Given the description of an element on the screen output the (x, y) to click on. 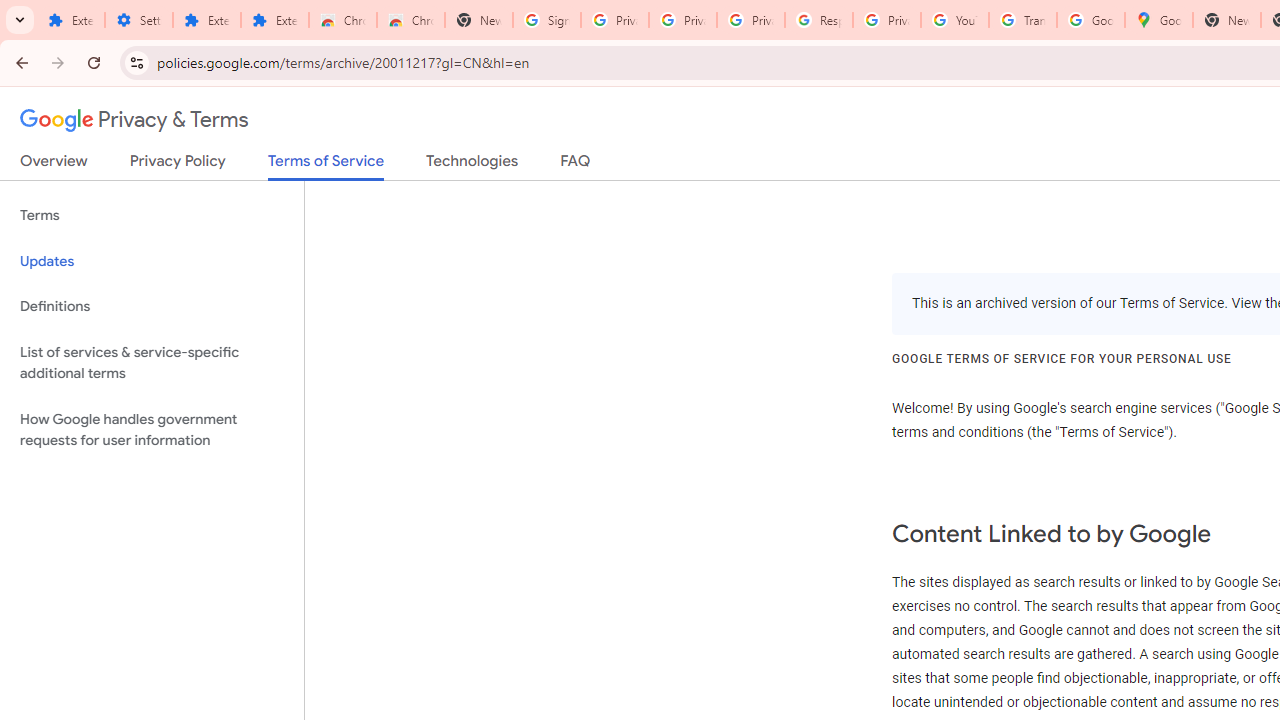
Chrome Web Store (342, 20)
Settings (138, 20)
Chrome Web Store - Themes (411, 20)
Privacy & Terms (134, 120)
Terms (152, 215)
FAQ (575, 165)
Technologies (472, 165)
Overview (54, 165)
Sign in - Google Accounts (547, 20)
Privacy Policy (177, 165)
